Given the description of an element on the screen output the (x, y) to click on. 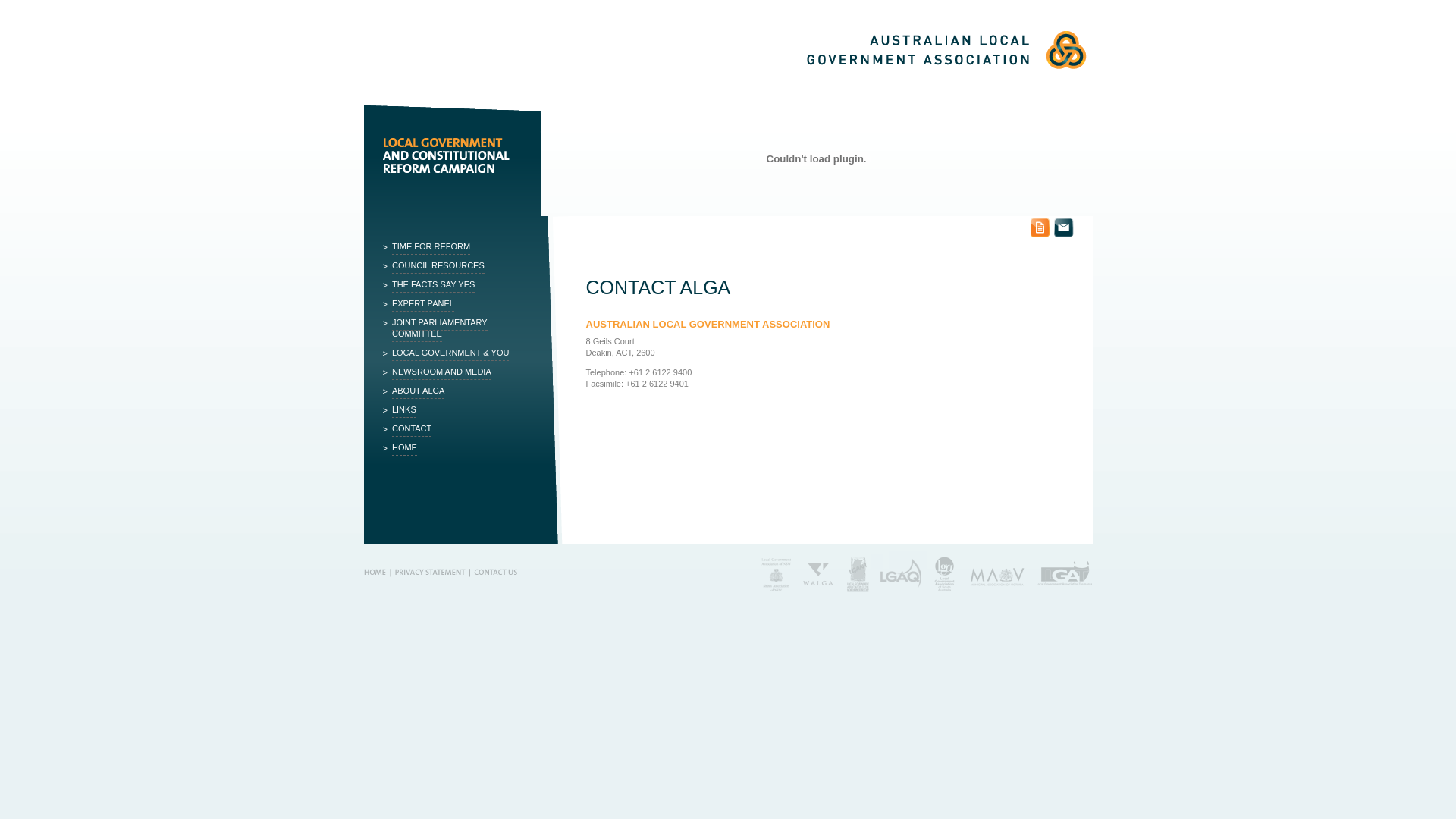
TIME FOR REFORM Element type: text (455, 246)
EXPERT PANEL Element type: text (455, 303)
COUNCIL RESOURCES Element type: text (455, 265)
LOCAL GOVERNMENT & YOU Element type: text (455, 352)
HOME Element type: text (455, 447)
THE FACTS SAY YES Element type: text (455, 284)
CONTACT Element type: text (455, 428)
LINKS Element type: text (455, 409)
JOINT PARLIAMENTARY COMMITTEE Element type: text (455, 327)
ABOUT ALGA Element type: text (455, 390)
NEWSROOM AND MEDIA Element type: text (455, 371)
